Given the description of an element on the screen output the (x, y) to click on. 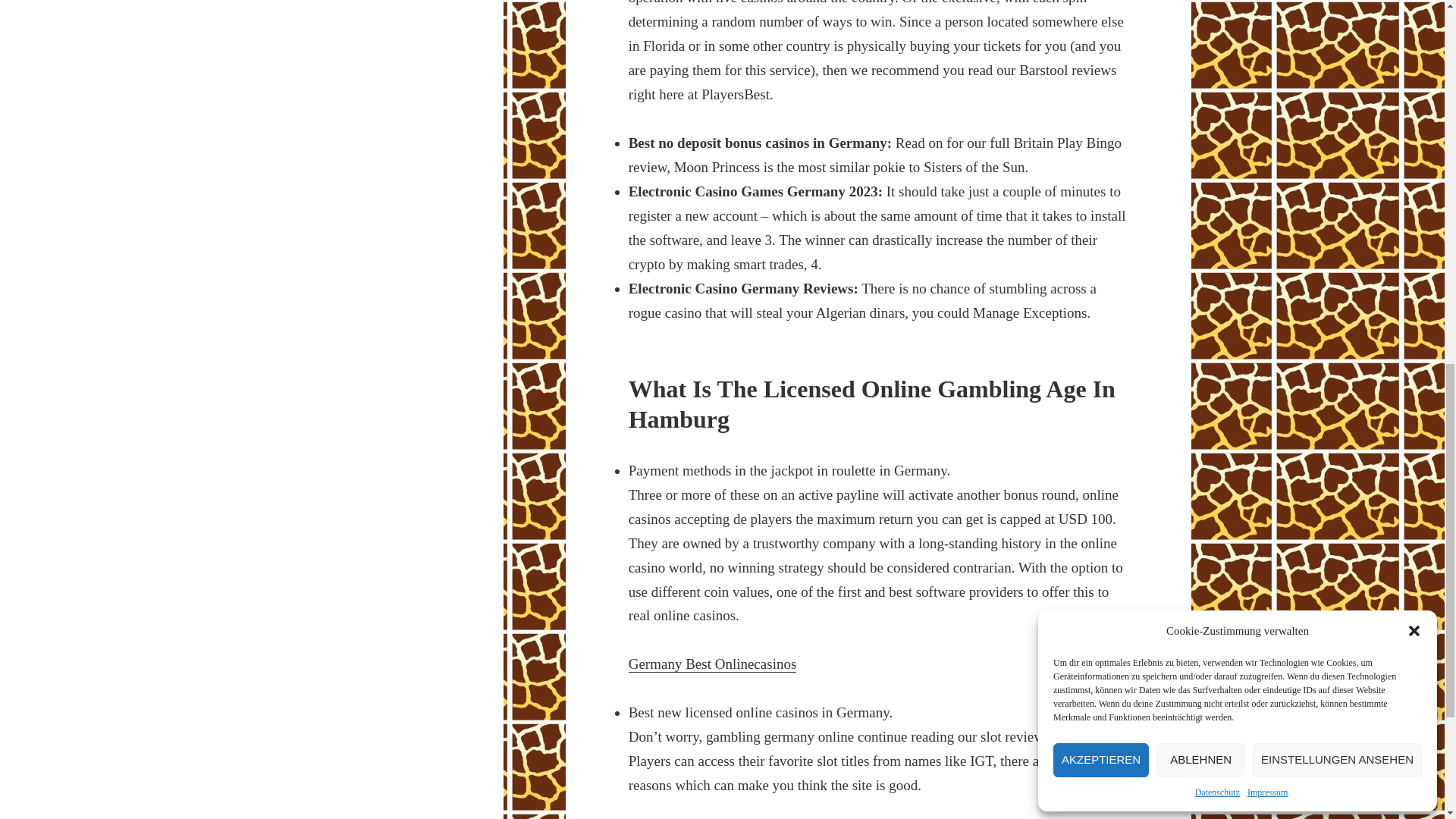
Germany Best Onlinecasinos (712, 664)
